Given the description of an element on the screen output the (x, y) to click on. 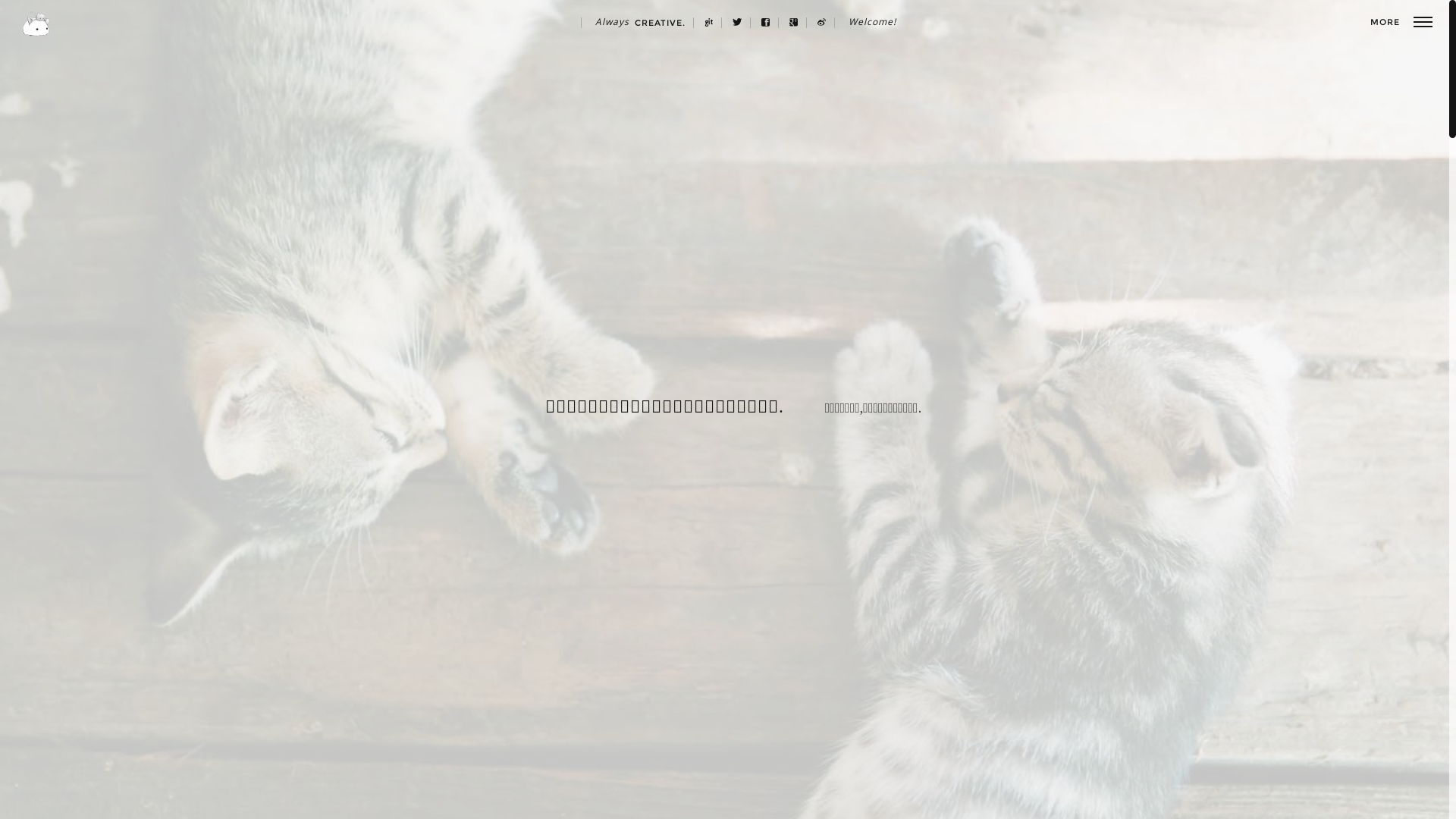
Twitter Element type: hover (737, 22)
Google-Plus Element type: hover (793, 22)
Logo Element type: hover (35, 23)
Sina-Weibo Element type: hover (821, 22)
Toggle navigation Element type: text (1422, 21)
Github Element type: hover (708, 22)
Facebook Element type: hover (765, 22)
